Given the description of an element on the screen output the (x, y) to click on. 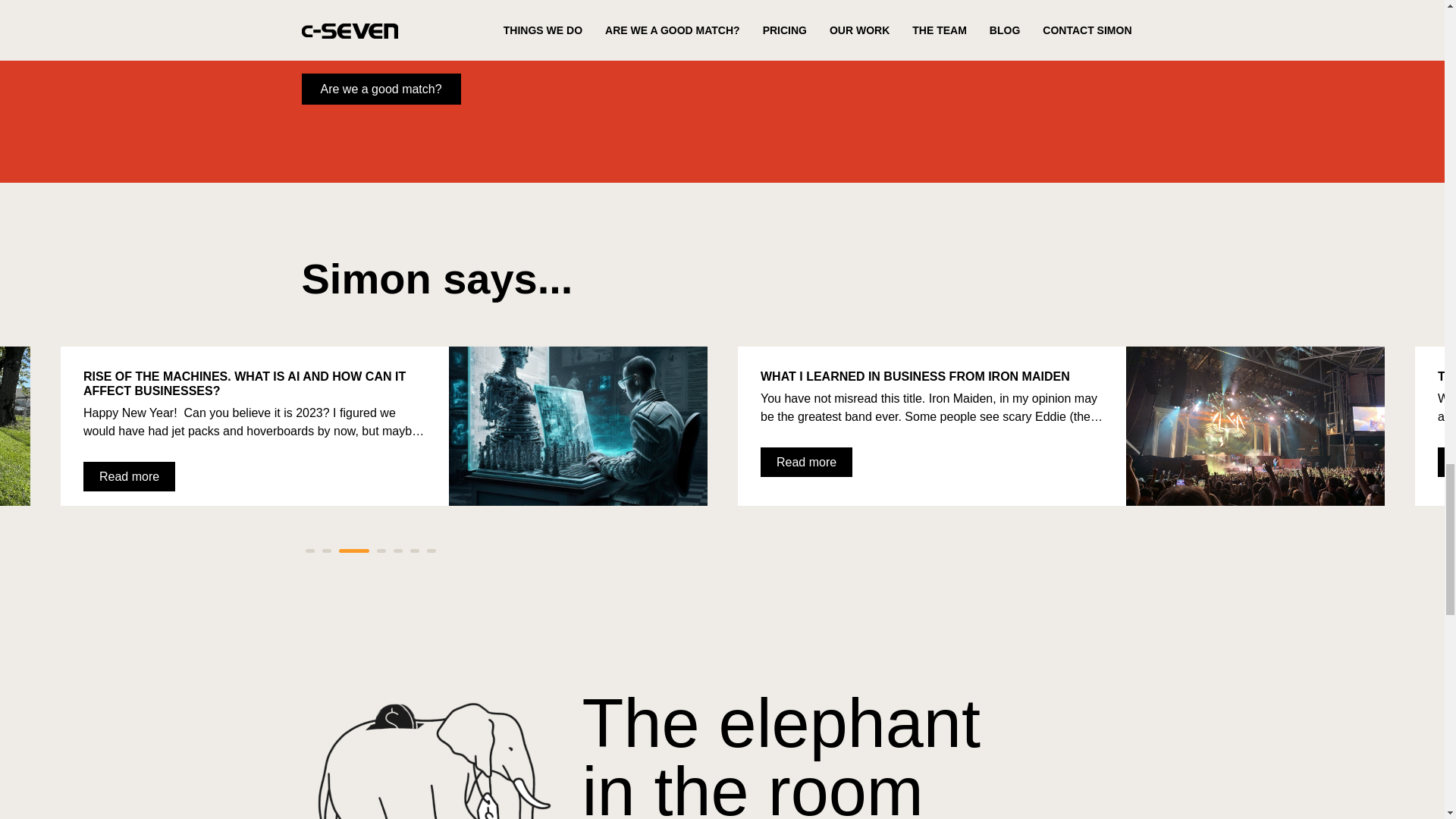
Are we a good match? (381, 88)
